Given the description of an element on the screen output the (x, y) to click on. 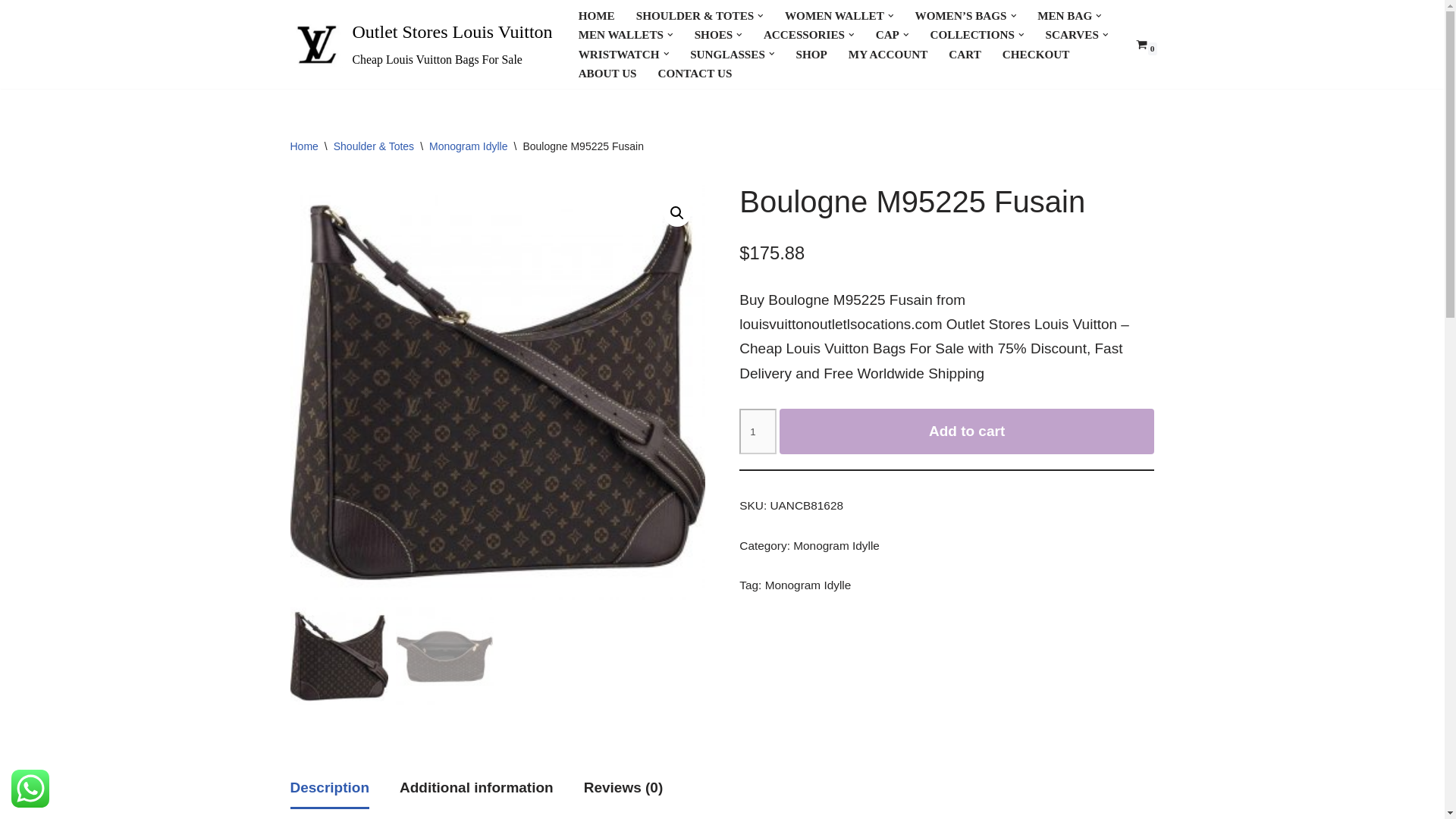
Skip to content (11, 31)
HOME (596, 15)
WOMEN WALLET (833, 15)
